Given the description of an element on the screen output the (x, y) to click on. 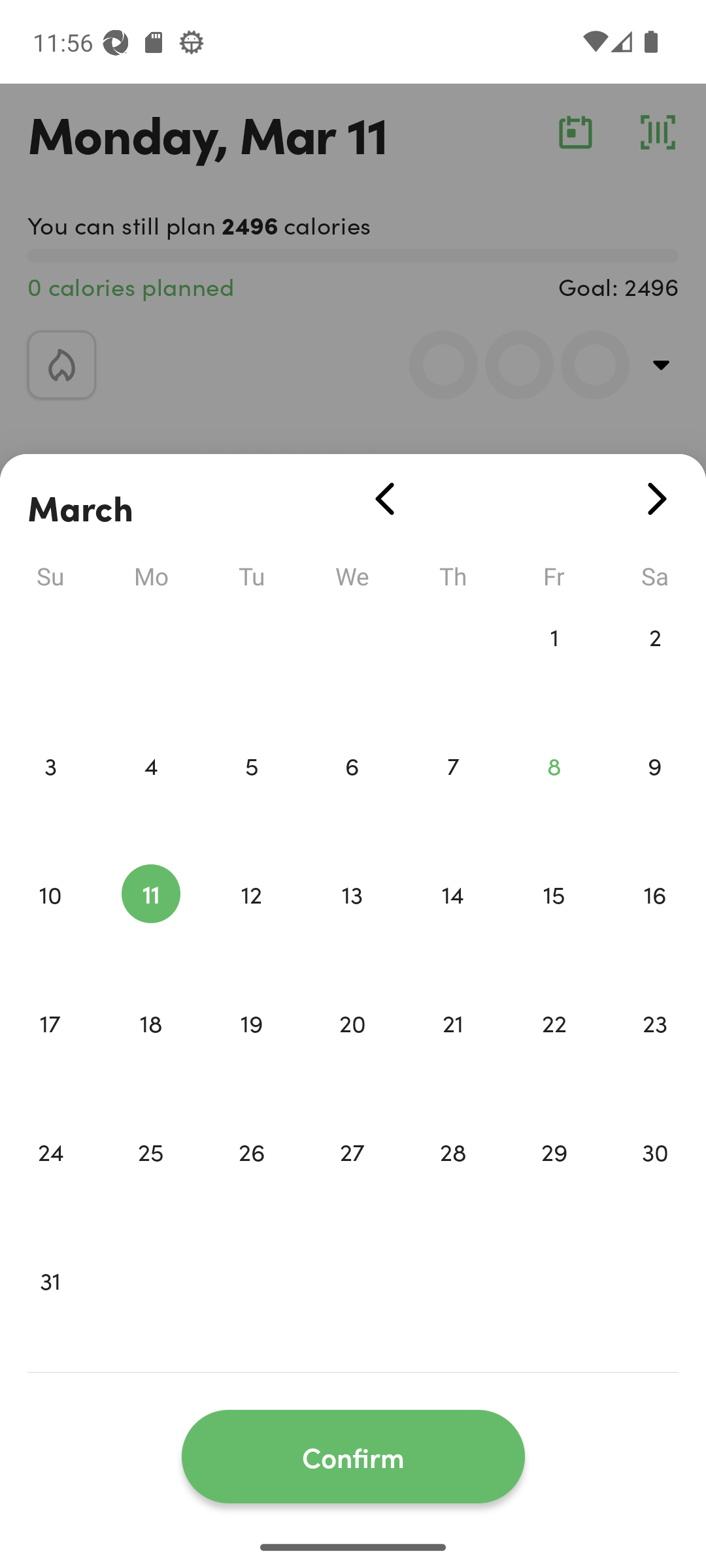
1 (554, 663)
2 (655, 663)
3 (50, 793)
4 (150, 793)
5 (251, 793)
6 (352, 793)
7 (453, 793)
8 (554, 793)
9 (655, 793)
10 (50, 921)
11 (150, 921)
12 (251, 921)
13 (352, 921)
14 (453, 921)
15 (554, 921)
16 (655, 921)
17 (50, 1050)
18 (150, 1050)
19 (251, 1050)
20 (352, 1050)
21 (453, 1050)
22 (554, 1050)
23 (655, 1050)
24 (50, 1178)
25 (150, 1178)
26 (251, 1178)
27 (352, 1178)
28 (453, 1178)
29 (554, 1178)
30 (655, 1178)
31 (50, 1307)
Confirm (353, 1456)
